Given the description of an element on the screen output the (x, y) to click on. 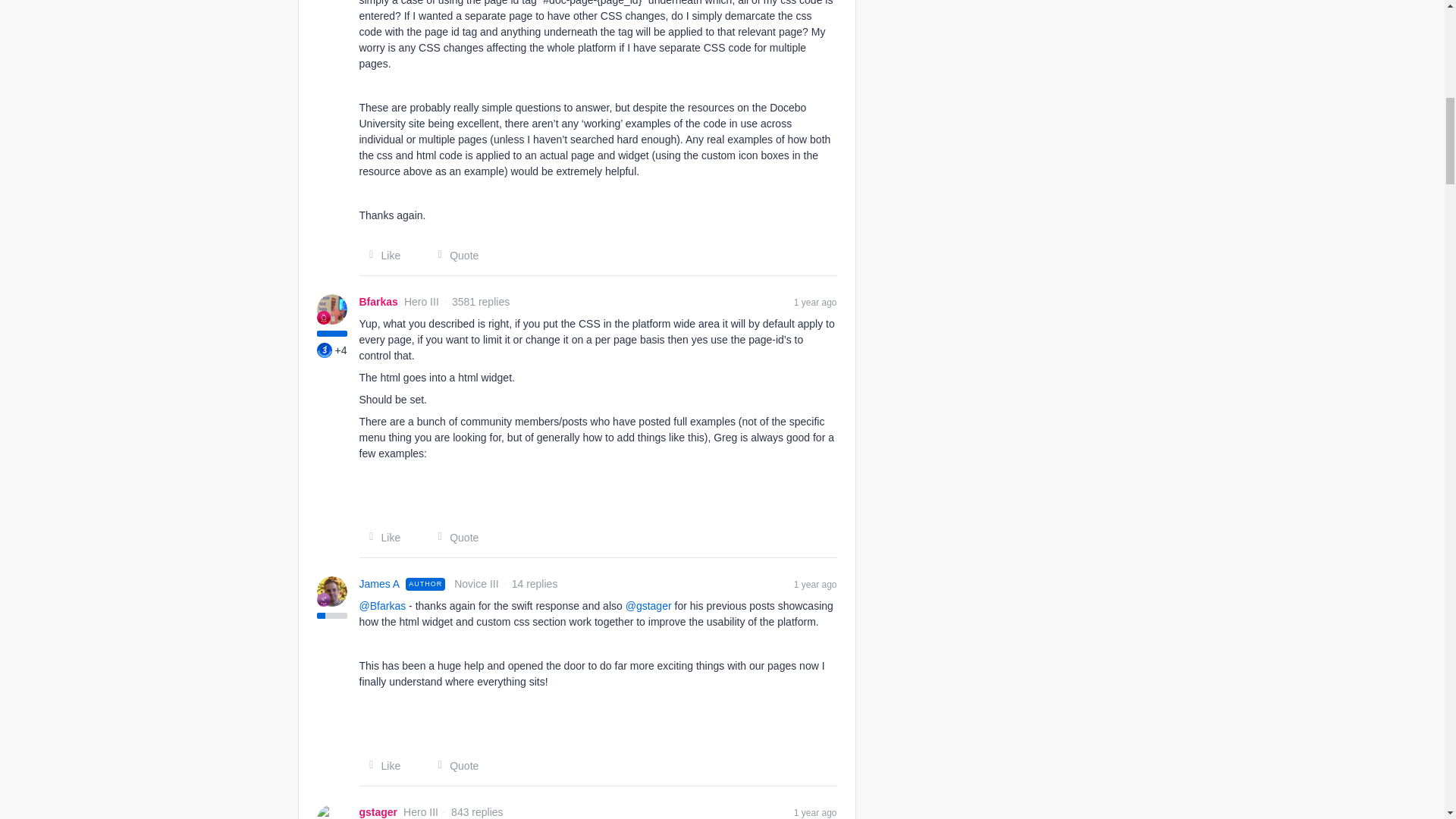
Bfarkas (378, 302)
Quote (453, 537)
Quote (453, 765)
Community 3rd Birthday (324, 350)
James A (379, 584)
Hero III (323, 317)
Bfarkas (378, 302)
Like (380, 537)
gstager (378, 811)
James A (379, 584)
Like (380, 255)
gstager (378, 811)
Quote (453, 255)
Like (380, 765)
Novice III (323, 599)
